Given the description of an element on the screen output the (x, y) to click on. 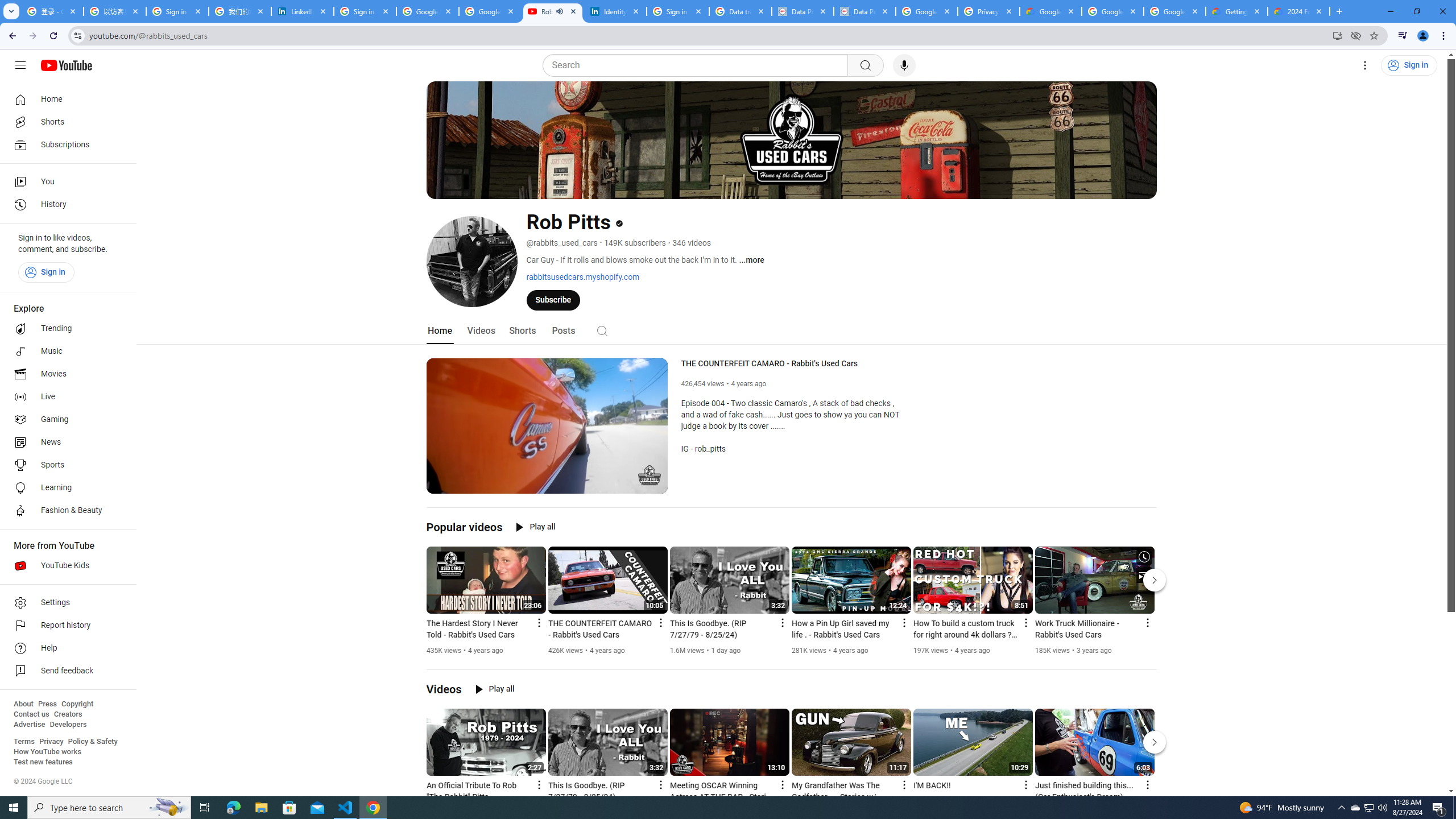
Home (64, 99)
Popular videos (464, 526)
Subscribe (552, 299)
Advertise (29, 724)
Home (440, 330)
Sign in - Google Accounts (678, 11)
Seek slider (546, 471)
Music (64, 350)
